Given the description of an element on the screen output the (x, y) to click on. 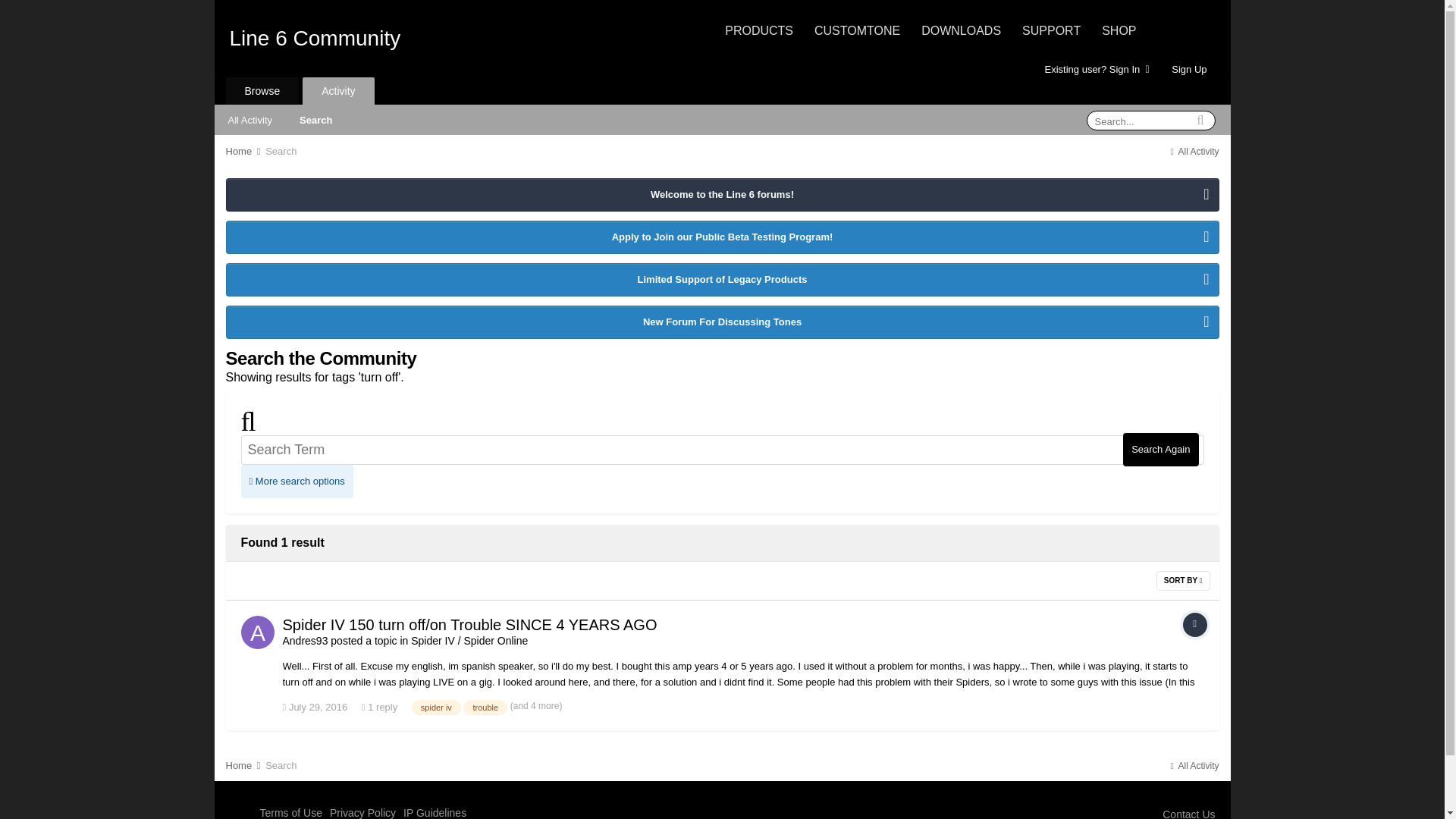
Limited Support of Legacy Products (721, 279)
Products (759, 30)
Find other content tagged with 'spider iv' (436, 707)
Line 6 Community (314, 37)
DOWNLOADS (961, 30)
All Activity (1192, 151)
Search Again (1160, 449)
Home (244, 151)
PRODUCTS (759, 30)
Welcome to the Line 6 forums! (721, 194)
More search options (297, 481)
Apply to Join our Public Beta Testing Program! (721, 237)
Support (1051, 30)
Downloads (961, 30)
CustomTone (856, 30)
